Given the description of an element on the screen output the (x, y) to click on. 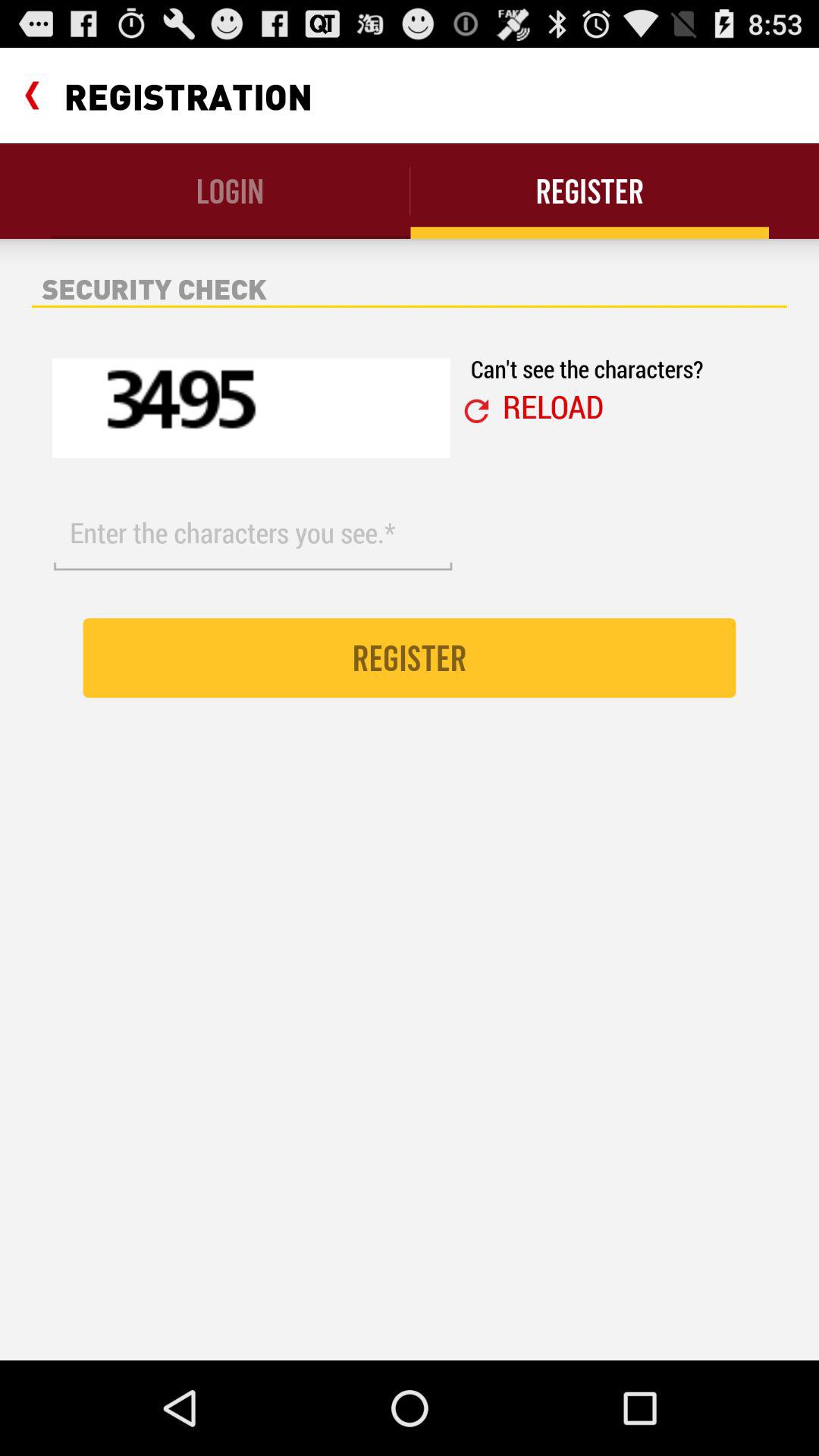
launch item to the left of reload item (476, 411)
